Given the description of an element on the screen output the (x, y) to click on. 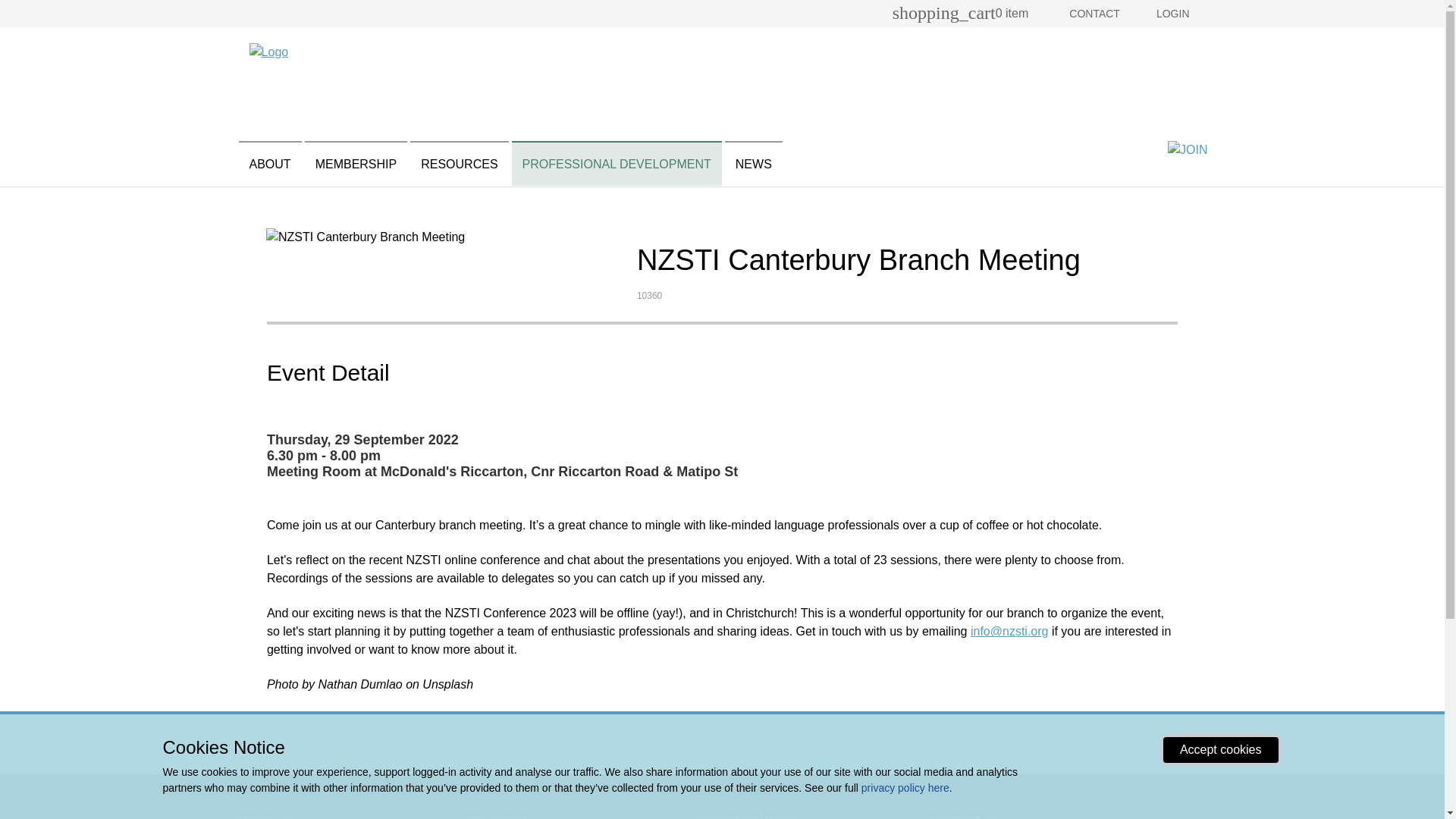
LOGIN (1172, 13)
Search for a Translator. (1069, 106)
Accept cookies (1220, 749)
Search for an Interpreter. (1069, 62)
Accept cookies (1220, 749)
CONTACT (1093, 13)
MEMBERSHIP (355, 162)
privacy policy here (905, 787)
ABOUT (269, 162)
